Given the description of an element on the screen output the (x, y) to click on. 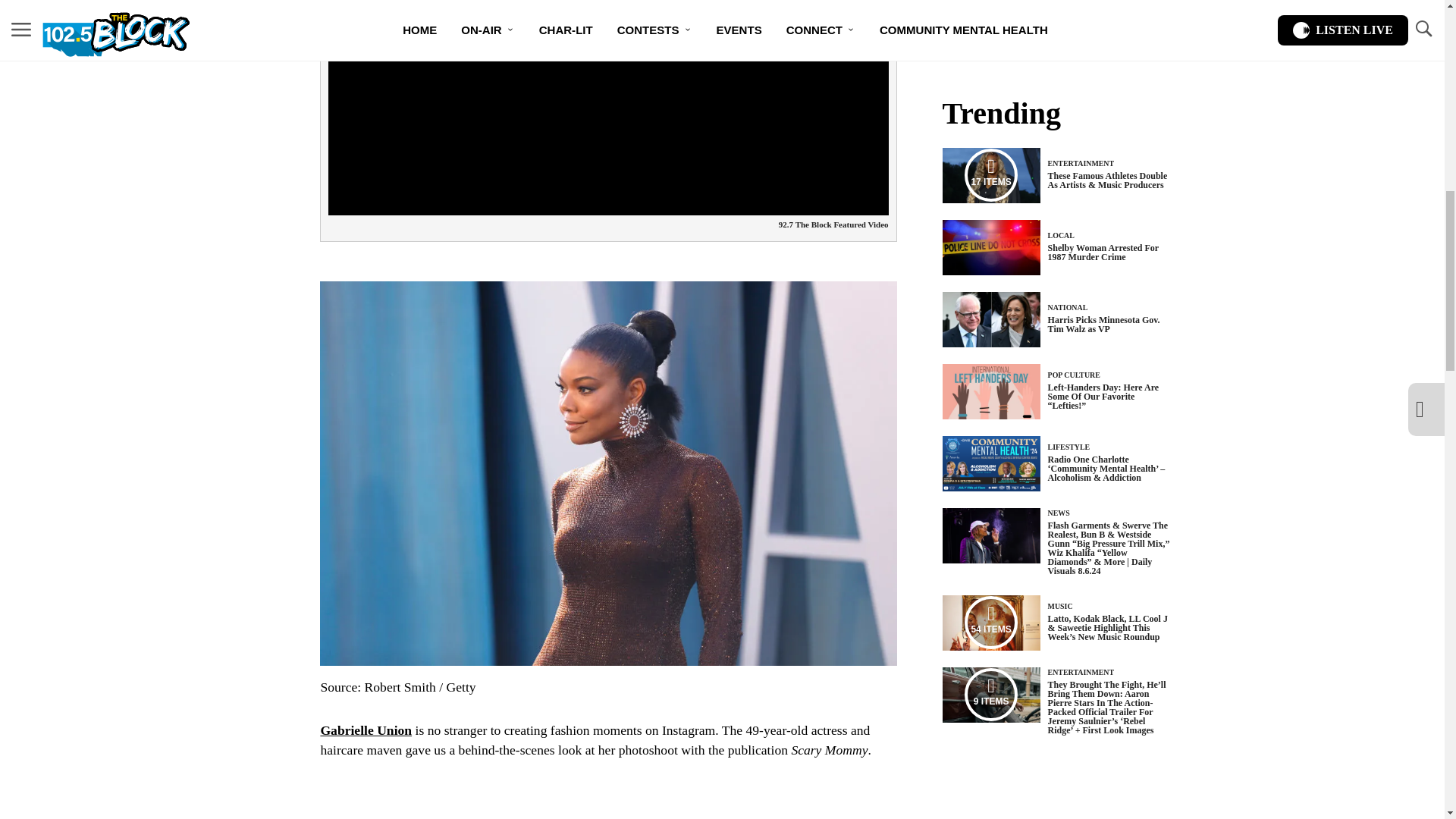
Media Playlist (990, 622)
Gabrielle Union (366, 729)
Media Playlist (990, 174)
Media Playlist (990, 694)
